Given the description of an element on the screen output the (x, y) to click on. 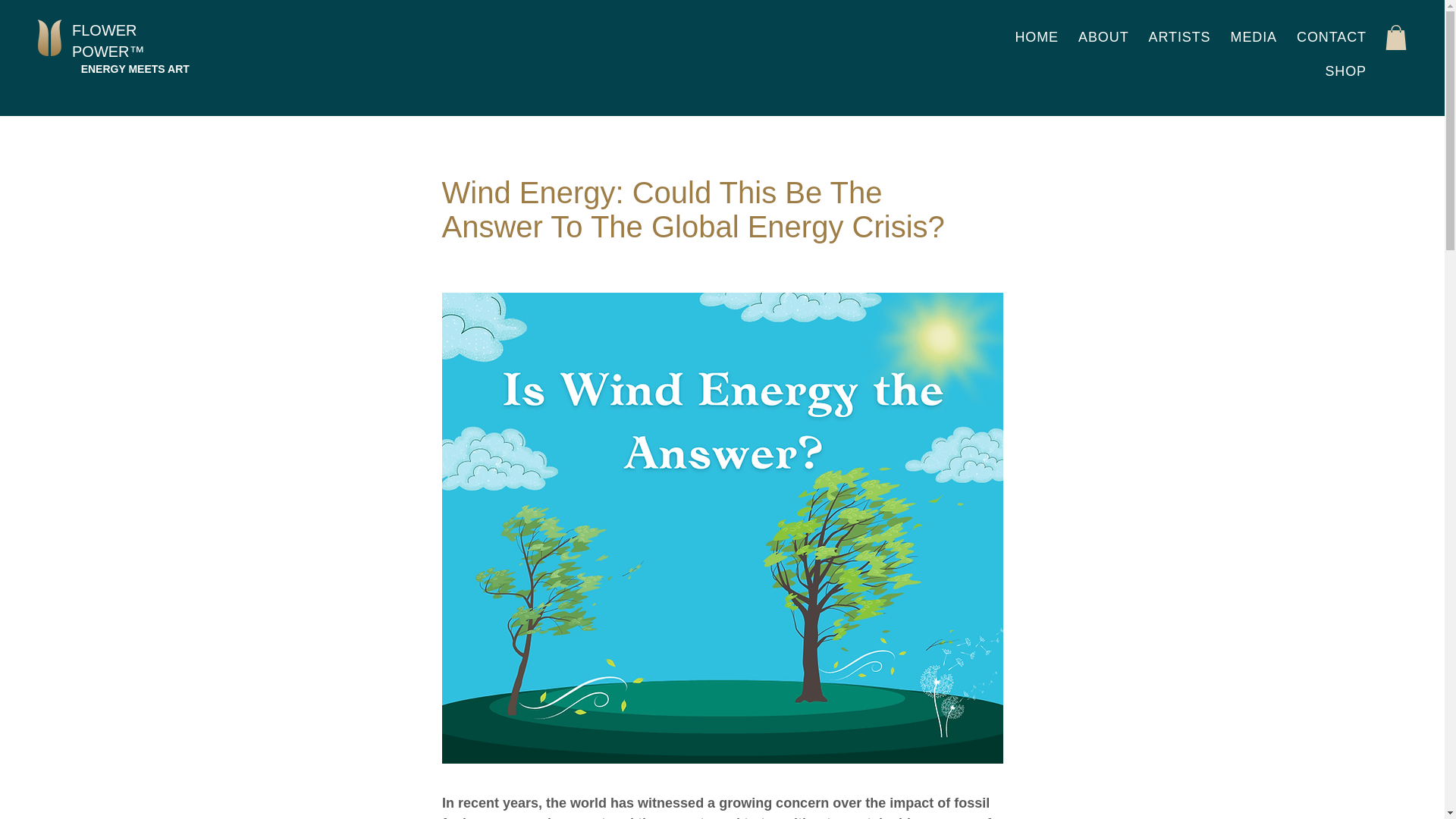
   ENERGY MEETS ART (130, 69)
MEDIA (1254, 37)
CONTACT (1332, 37)
SHOP (1345, 71)
HOME (1036, 37)
ARTISTS (1179, 37)
